Given the description of an element on the screen output the (x, y) to click on. 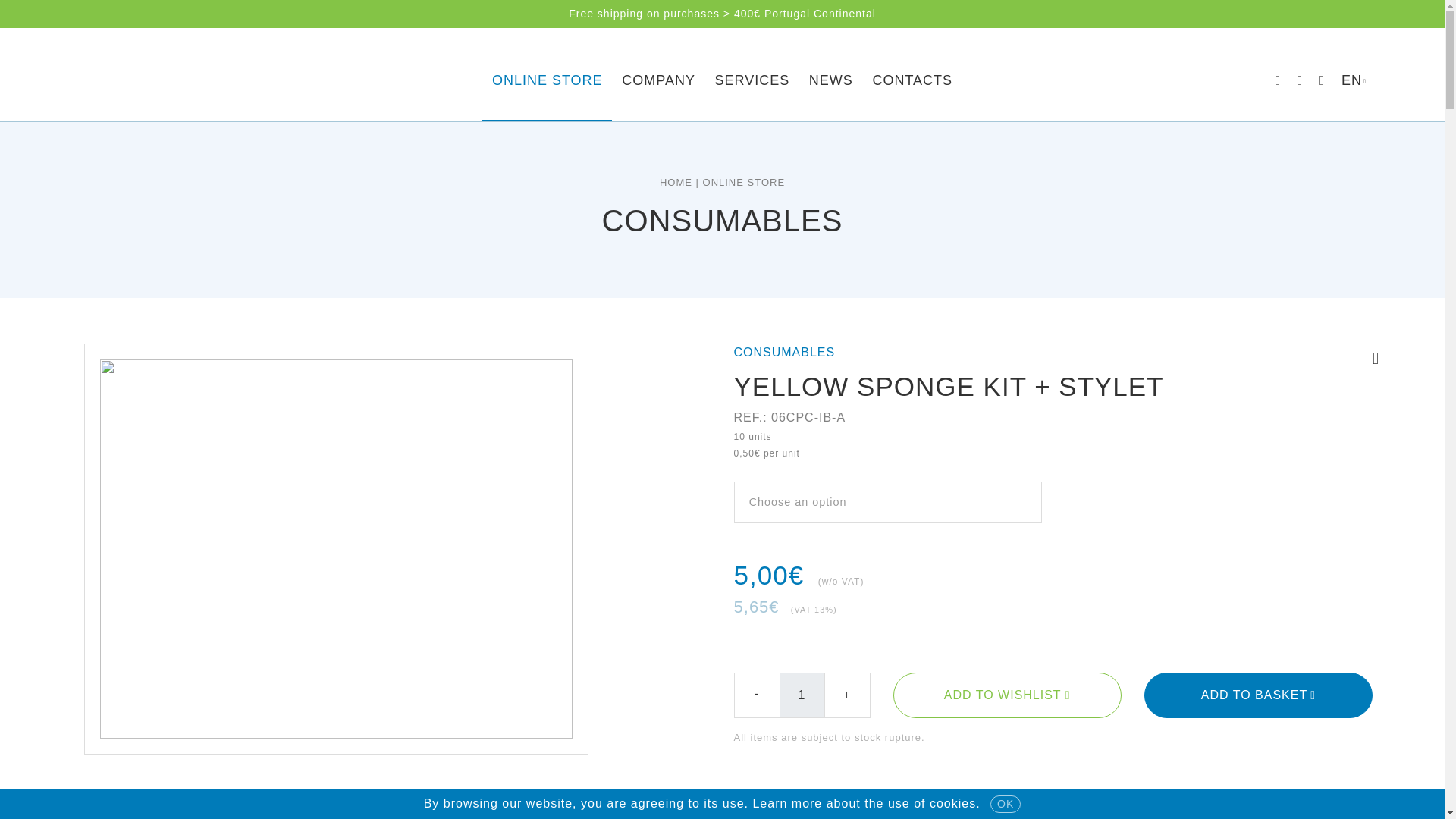
ADD TO WISHLIST (1007, 694)
CONSUMABLES (784, 352)
CONSUMABLES (722, 219)
ONLINE STORE (546, 77)
CONTACTS (912, 77)
1 (801, 694)
ADD TO BASKET (1258, 694)
HOME (676, 182)
NEWS (831, 77)
ONLINE STORE (744, 182)
COMPANY (657, 77)
SERVICES (751, 77)
EN (1353, 79)
